Given the description of an element on the screen output the (x, y) to click on. 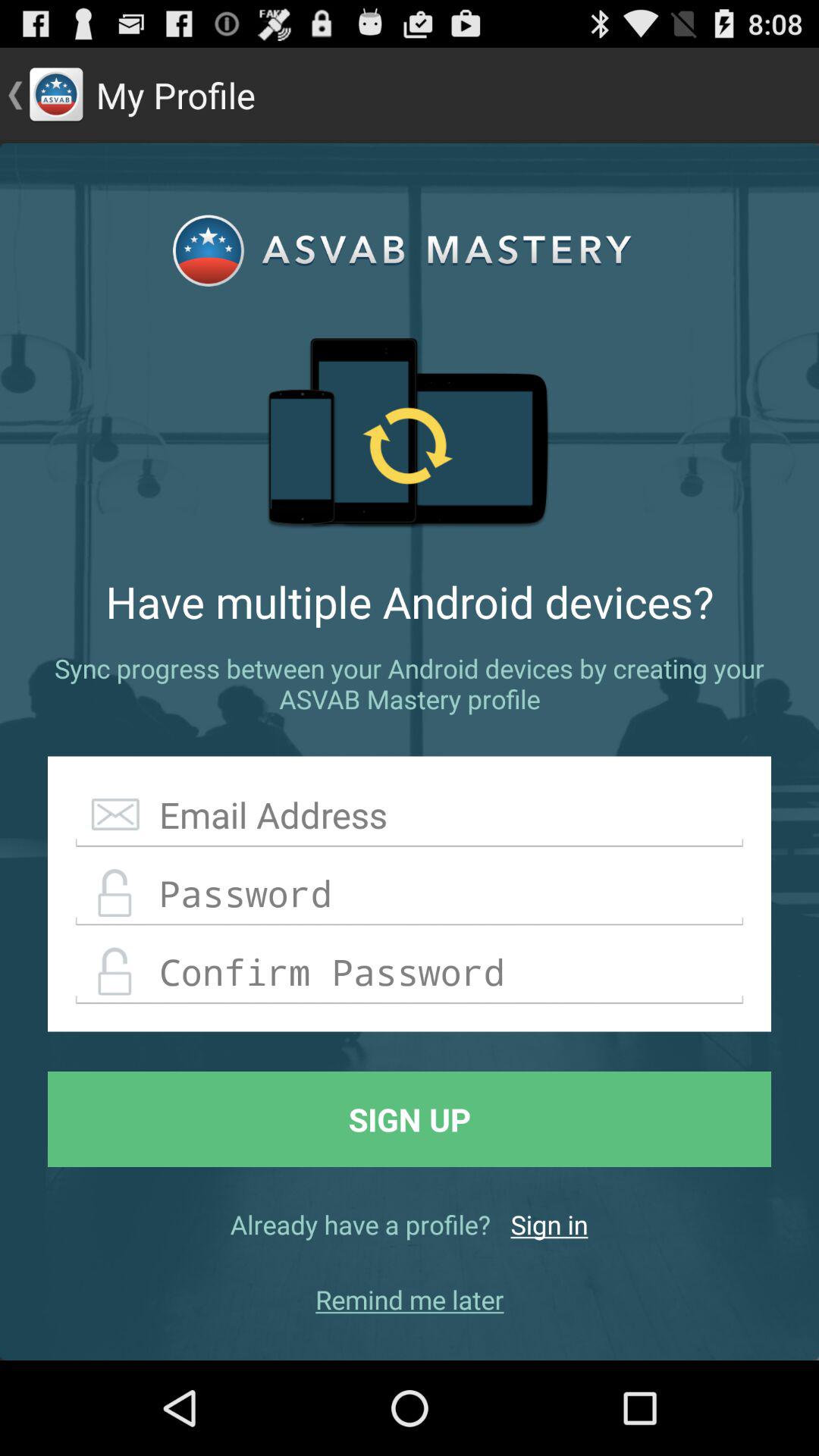
open item above remind me later app (549, 1224)
